Given the description of an element on the screen output the (x, y) to click on. 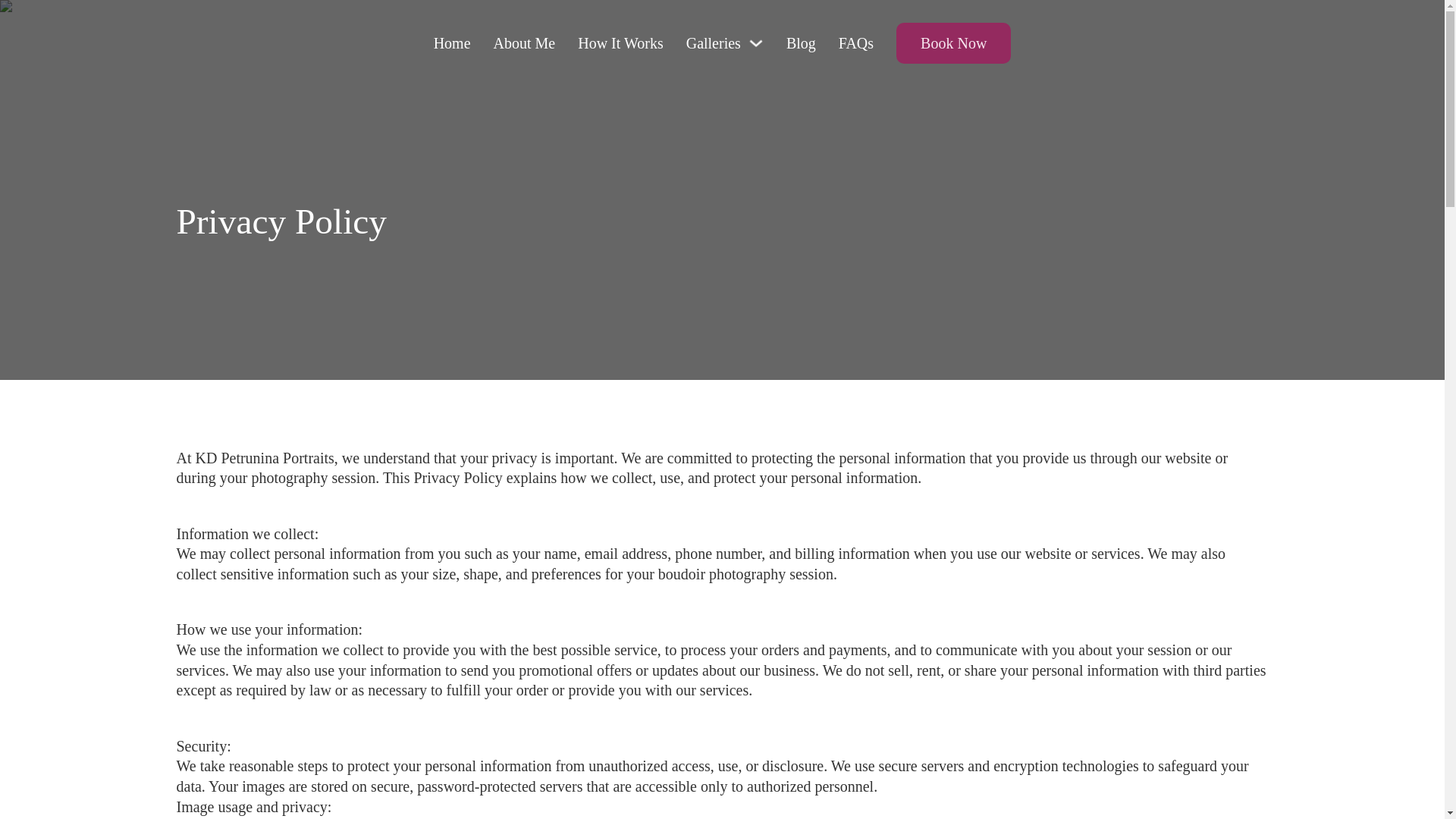
Galleries (713, 43)
Home (451, 43)
How It Works (620, 43)
About Me (524, 43)
FAQs (855, 43)
Book Now (953, 42)
Blog (800, 43)
